Given the description of an element on the screen output the (x, y) to click on. 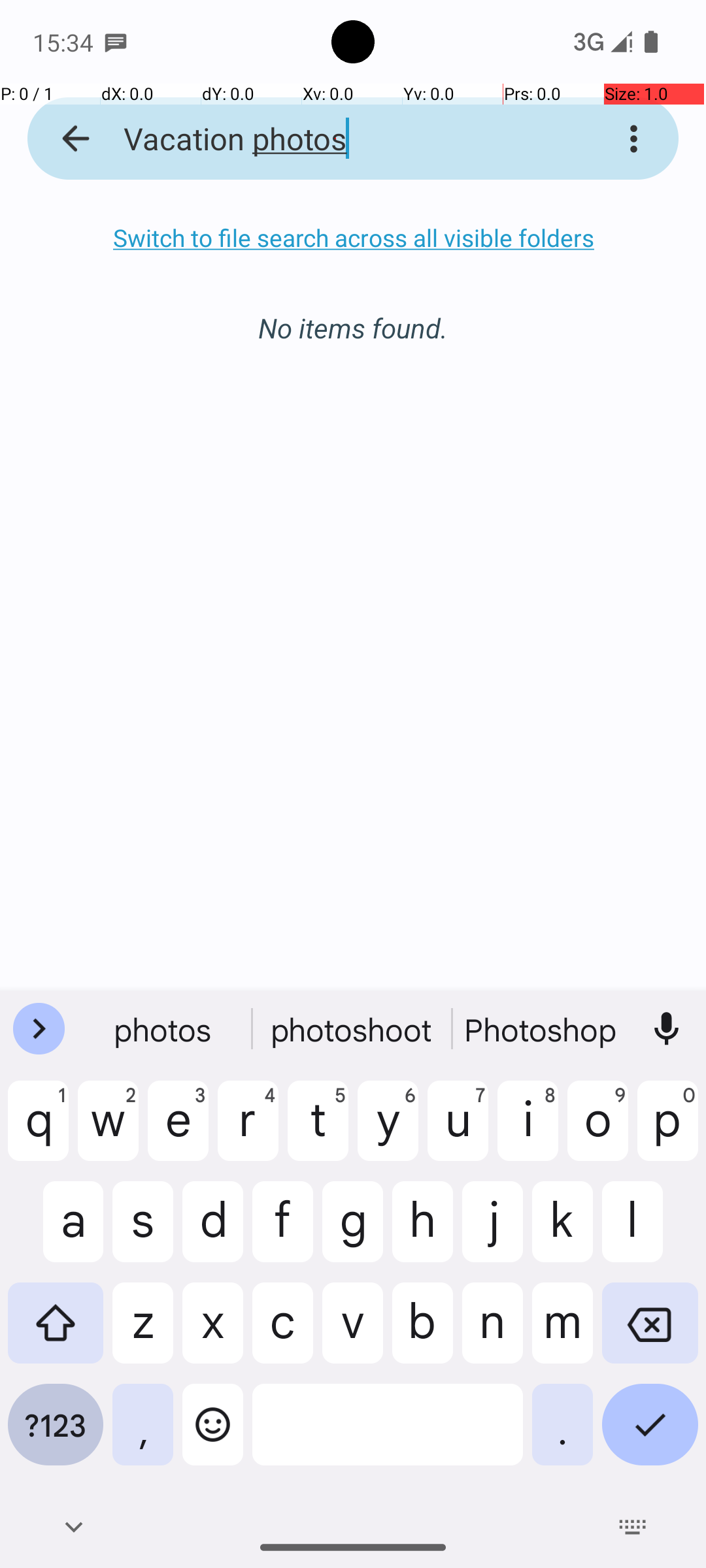
Switch to file search across all visible folders Element type: android.widget.TextView (353, 237)
No items found. Element type: android.widget.TextView (353, 313)
Vacation photos Element type: android.widget.EditText (335, 138)
photo Element type: android.widget.FrameLayout (163, 1028)
photos Element type: android.widget.FrameLayout (352, 1028)
photography Element type: android.widget.FrameLayout (541, 1028)
